Given the description of an element on the screen output the (x, y) to click on. 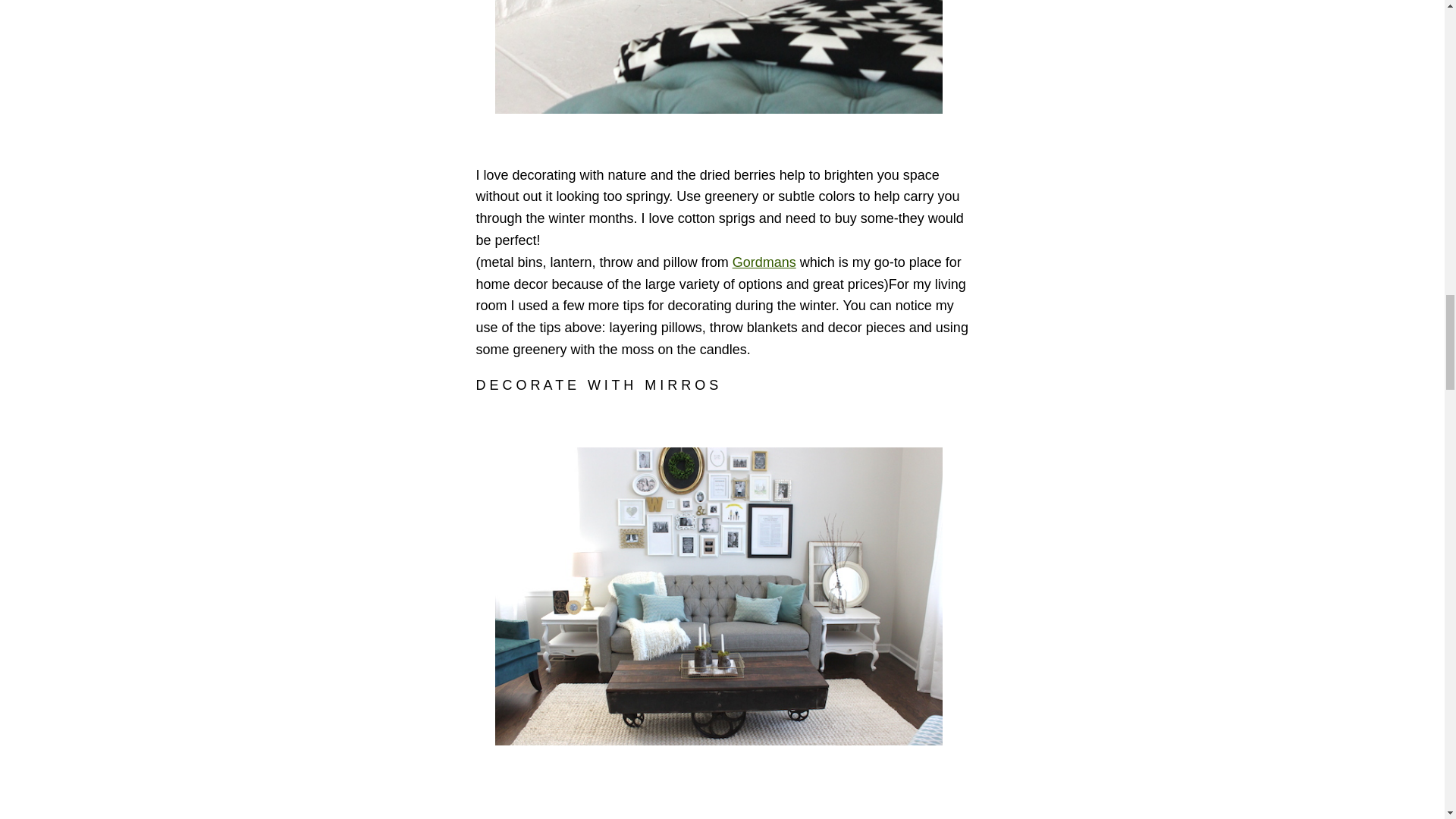
Gordmans (764, 262)
